Given the description of an element on the screen output the (x, y) to click on. 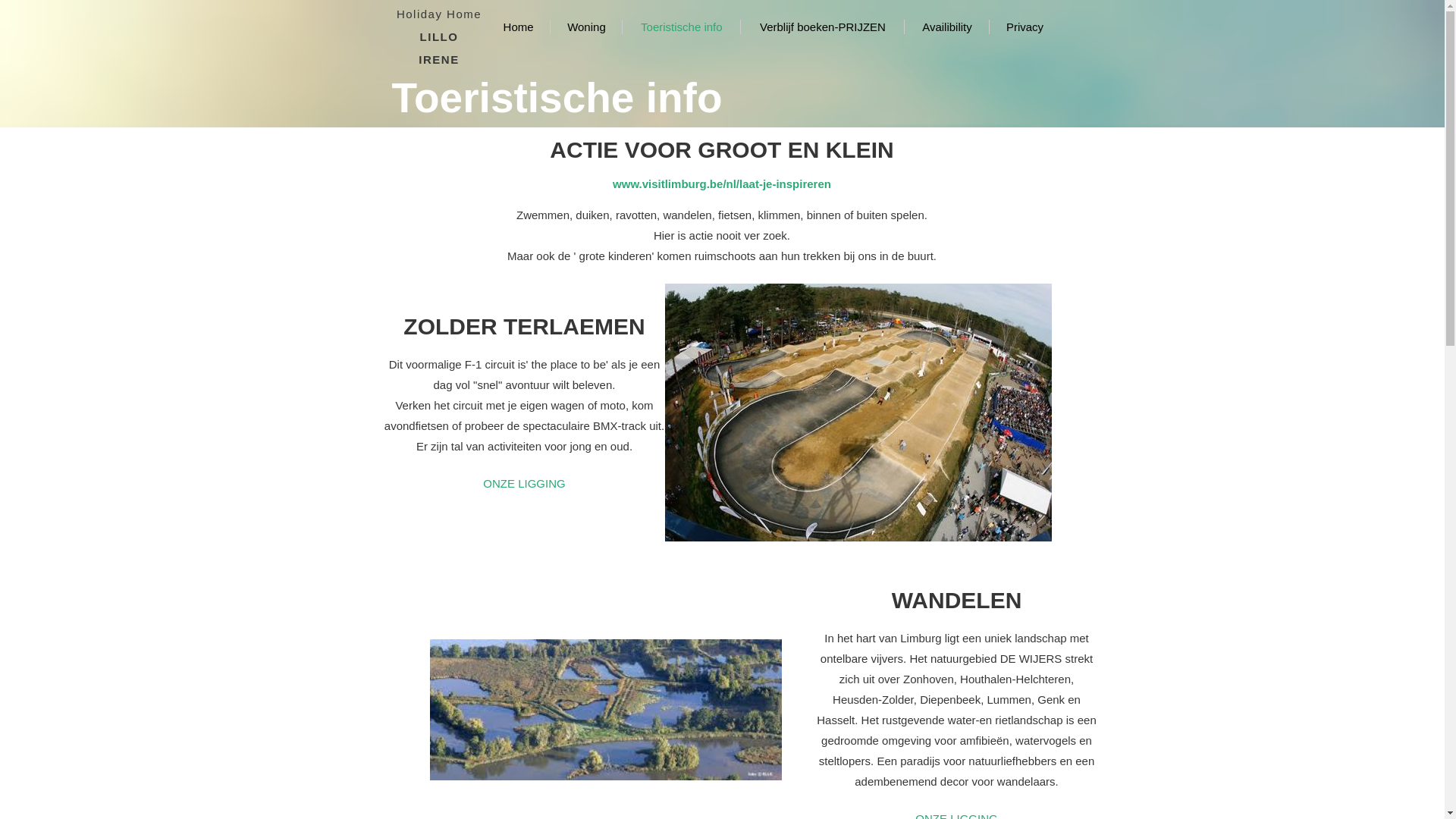
Verblijf boeken-PRIJZEN Element type: text (822, 26)
ONZE LIGGING Element type: text (523, 482)
www.visitlimburg.be/nl/laat-je-inspireren Element type: text (721, 183)
Home Element type: text (518, 26)
Privacy Element type: text (1024, 26)
Woning Element type: text (586, 26)
Availibility Element type: text (946, 26)
Toeristische info Element type: text (681, 26)
